Given the description of an element on the screen output the (x, y) to click on. 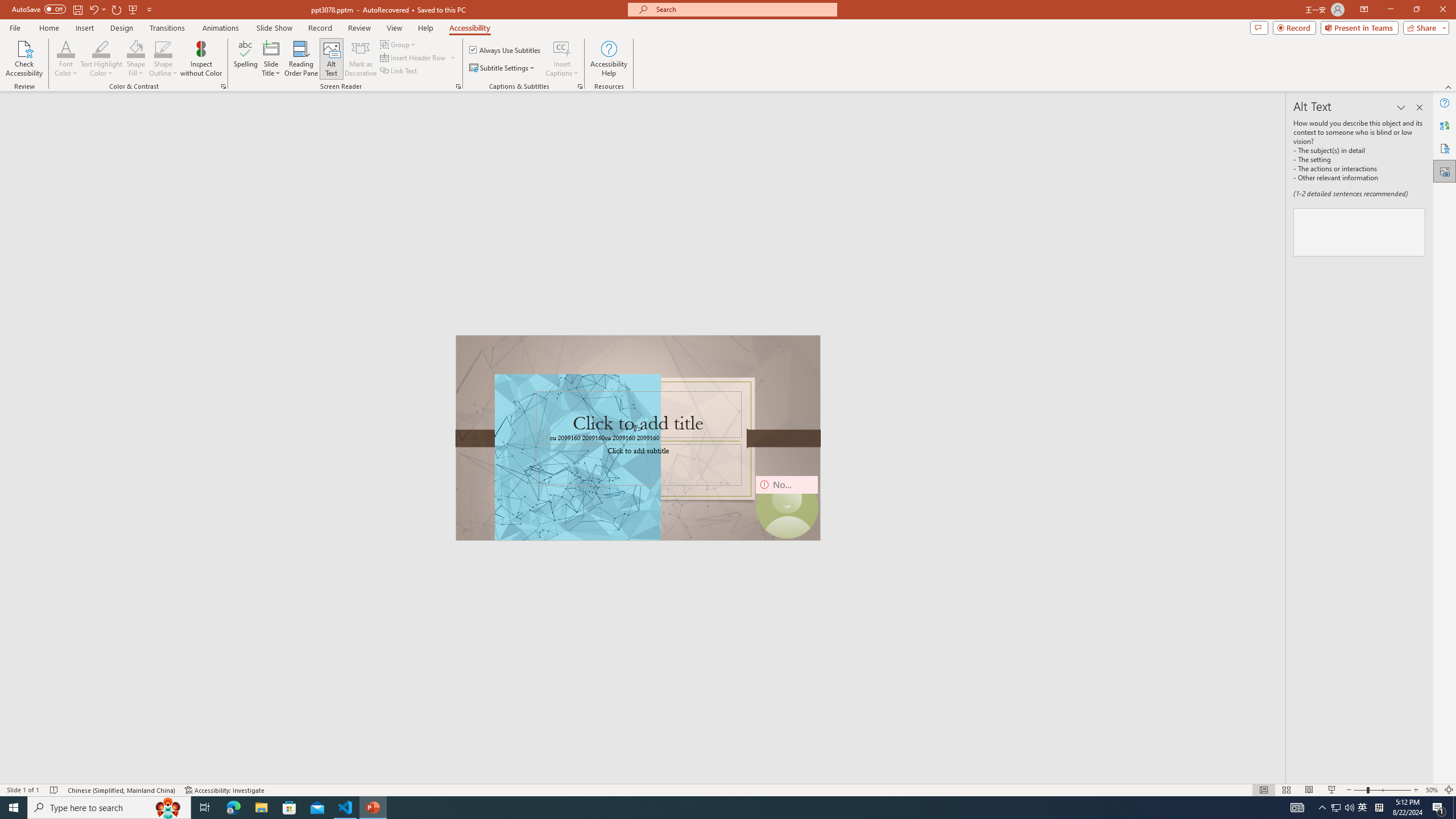
Check Accessibility (23, 58)
Accessibility Help (608, 58)
Insert Header Row (413, 56)
Alt Text (331, 58)
Insert Captions (561, 58)
